Given the description of an element on the screen output the (x, y) to click on. 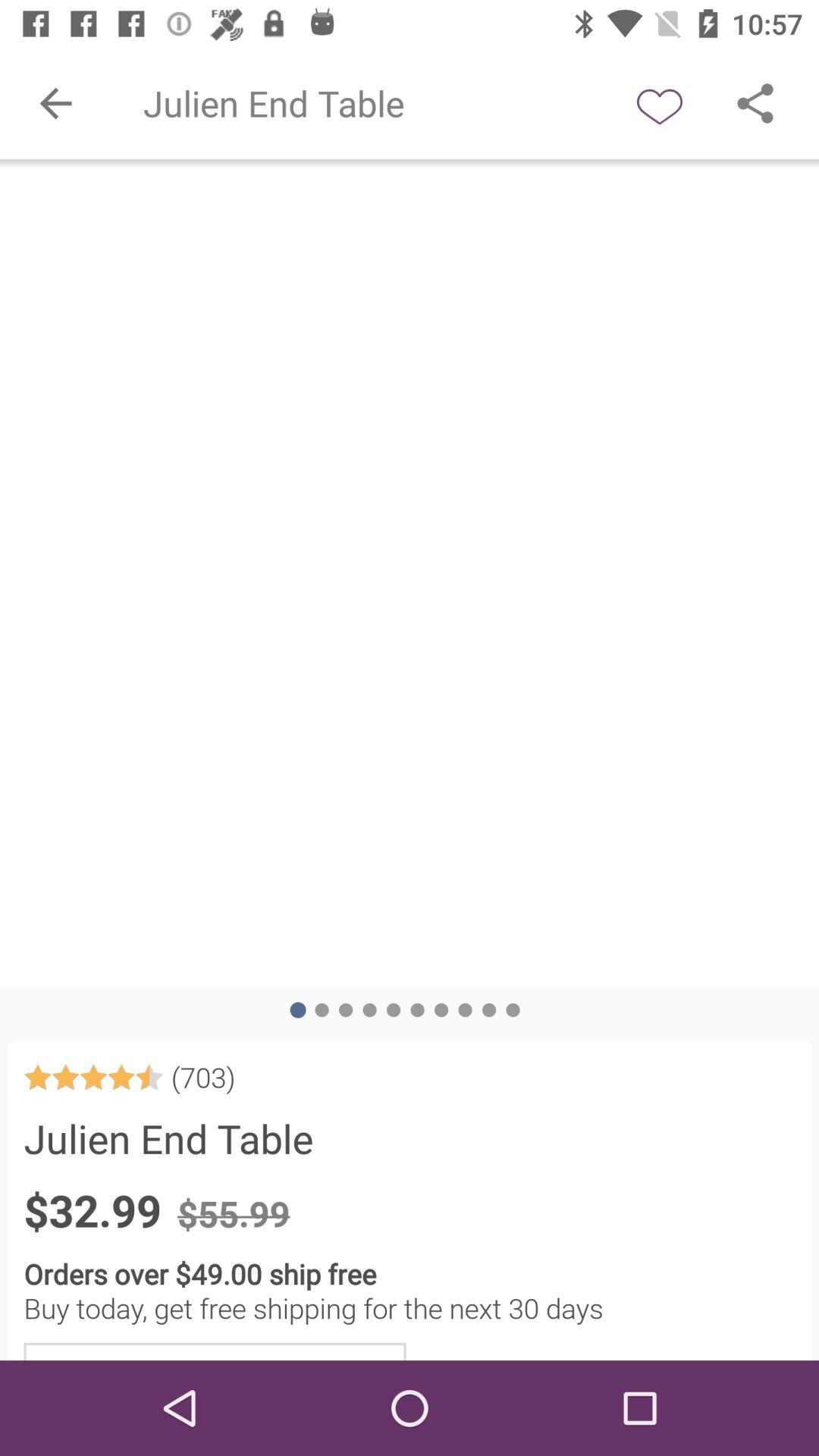
sharing option (755, 103)
